Given the description of an element on the screen output the (x, y) to click on. 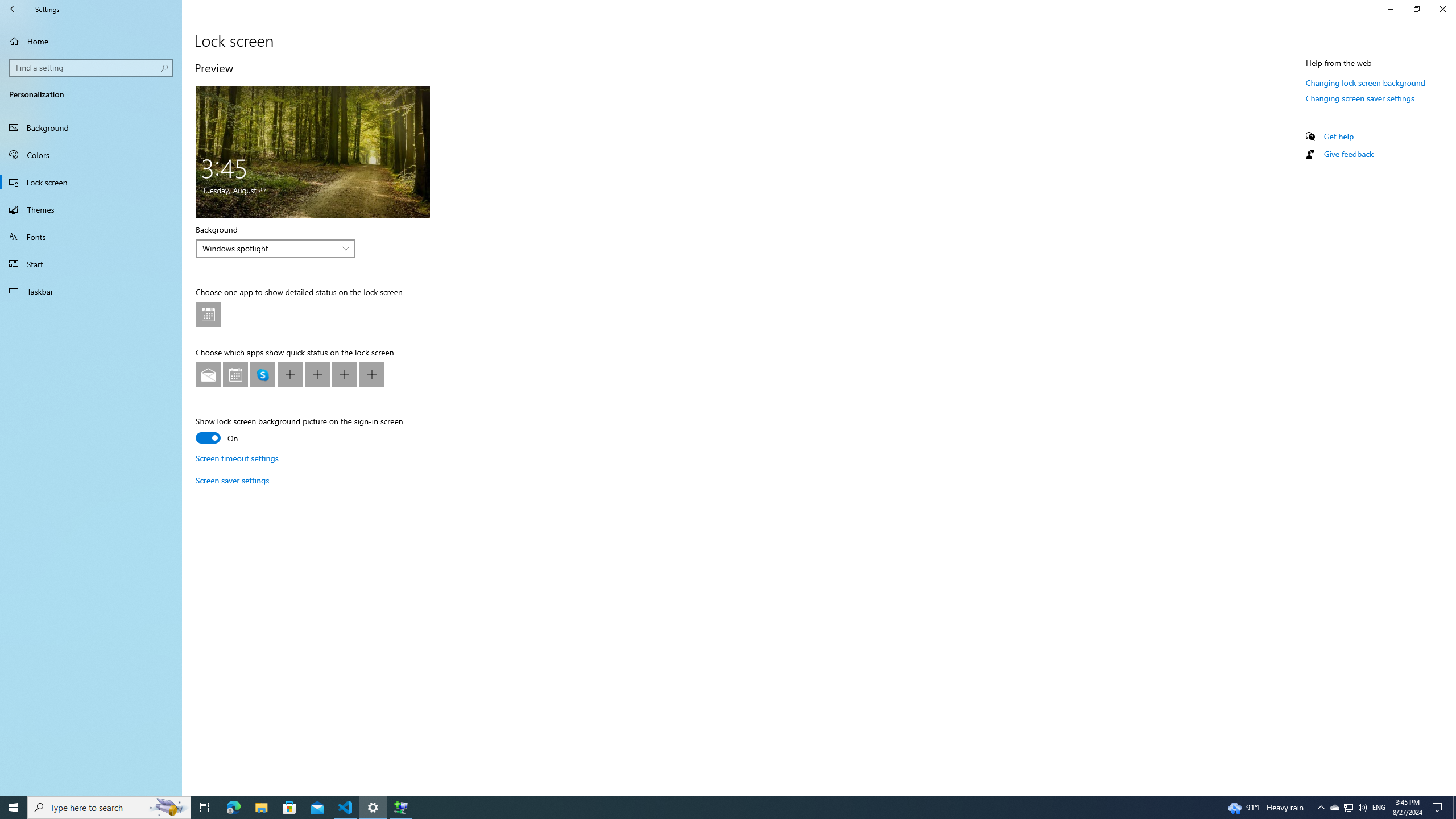
Lock screen app quick status at position 5 (317, 374)
Windows spotlight (269, 248)
Mail (208, 374)
Calendar (234, 374)
Taskbar (91, 290)
Screen timeout settings (236, 457)
Background (91, 126)
